Given the description of an element on the screen output the (x, y) to click on. 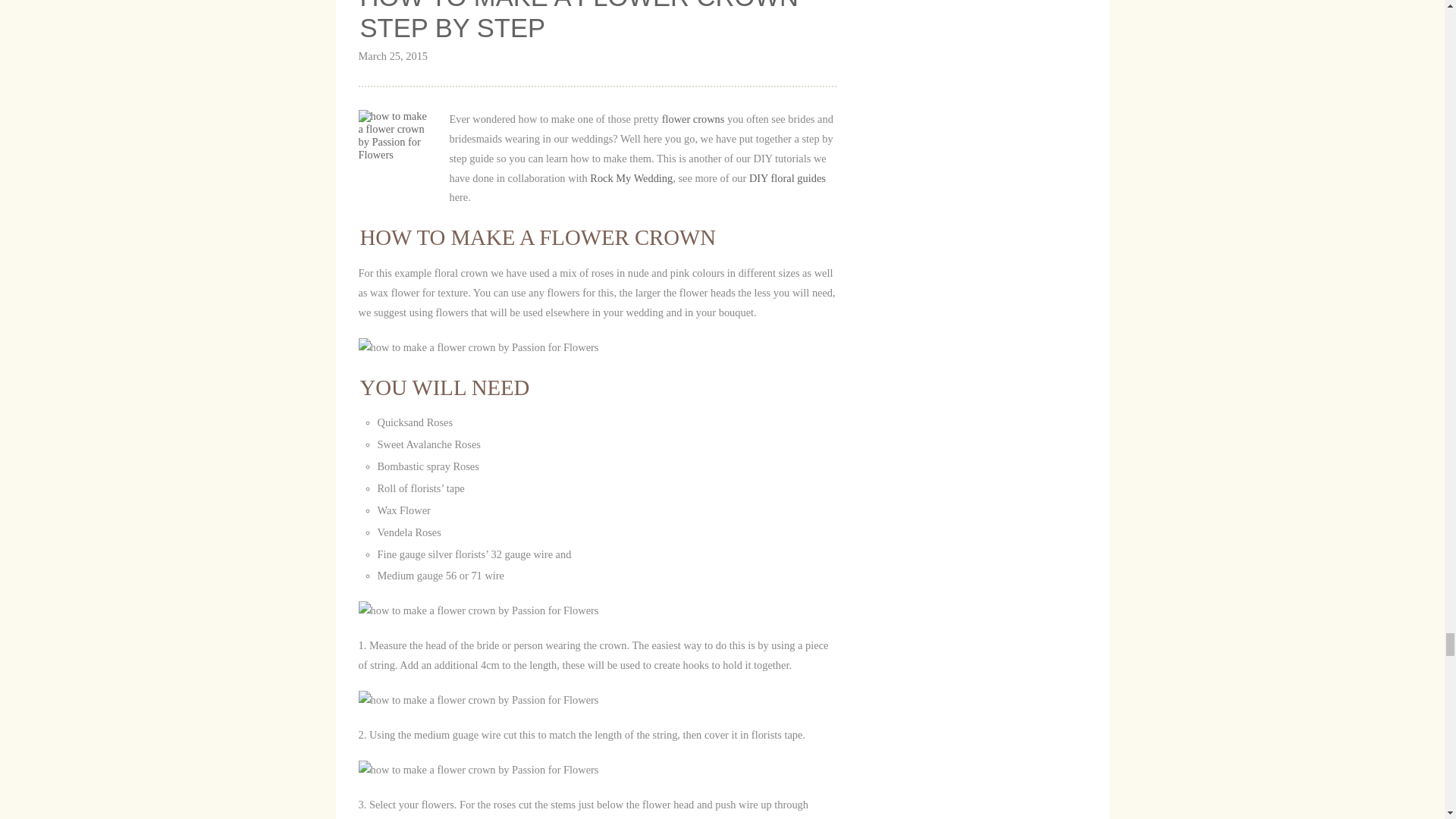
FLOWER CROWNS WEDDING HAIR INSPIRATION (693, 119)
